Given the description of an element on the screen output the (x, y) to click on. 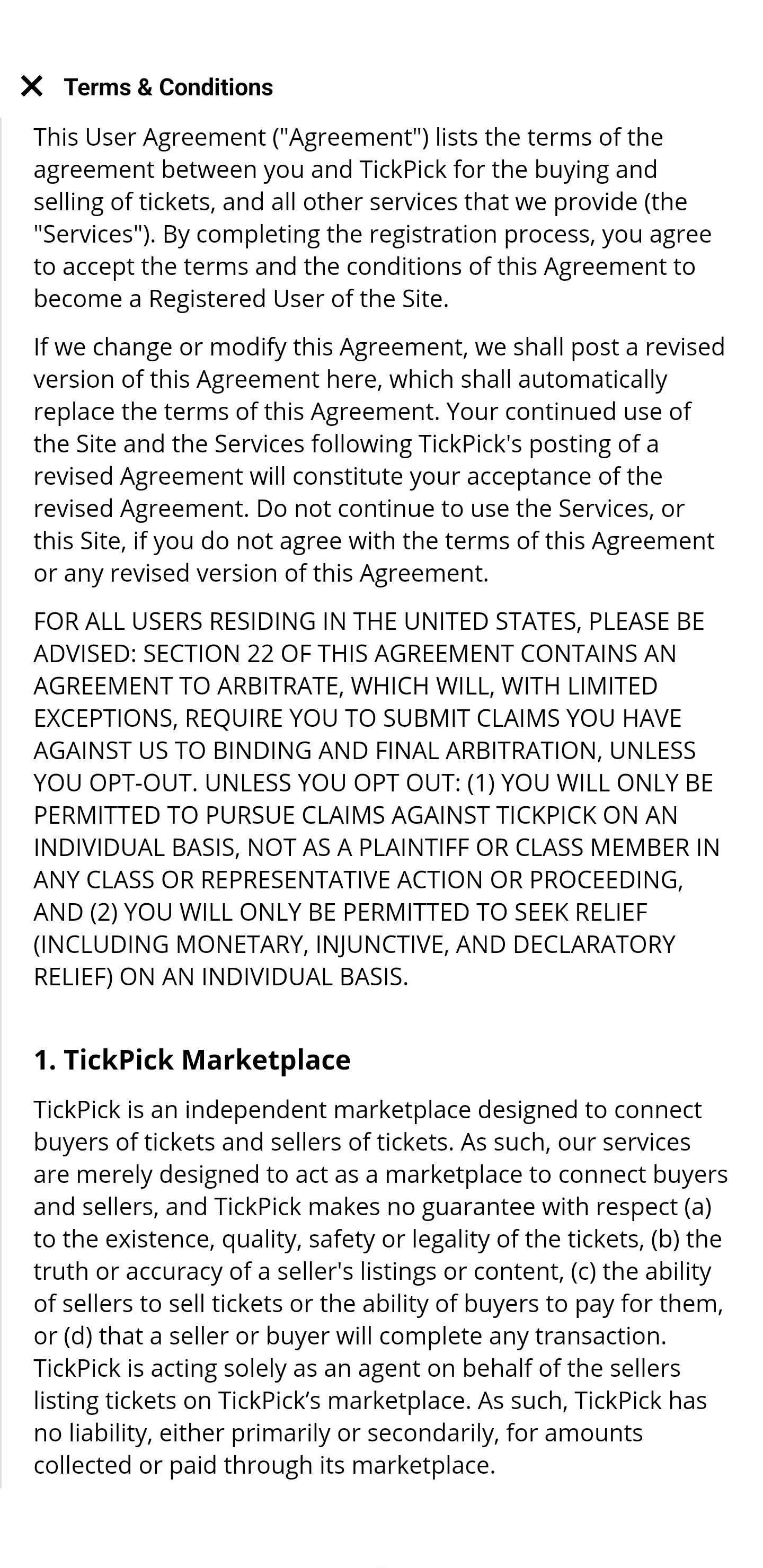
BestPrice Guarantee,    BestPrice Guarantee    (381, 1066)
